Given the description of an element on the screen output the (x, y) to click on. 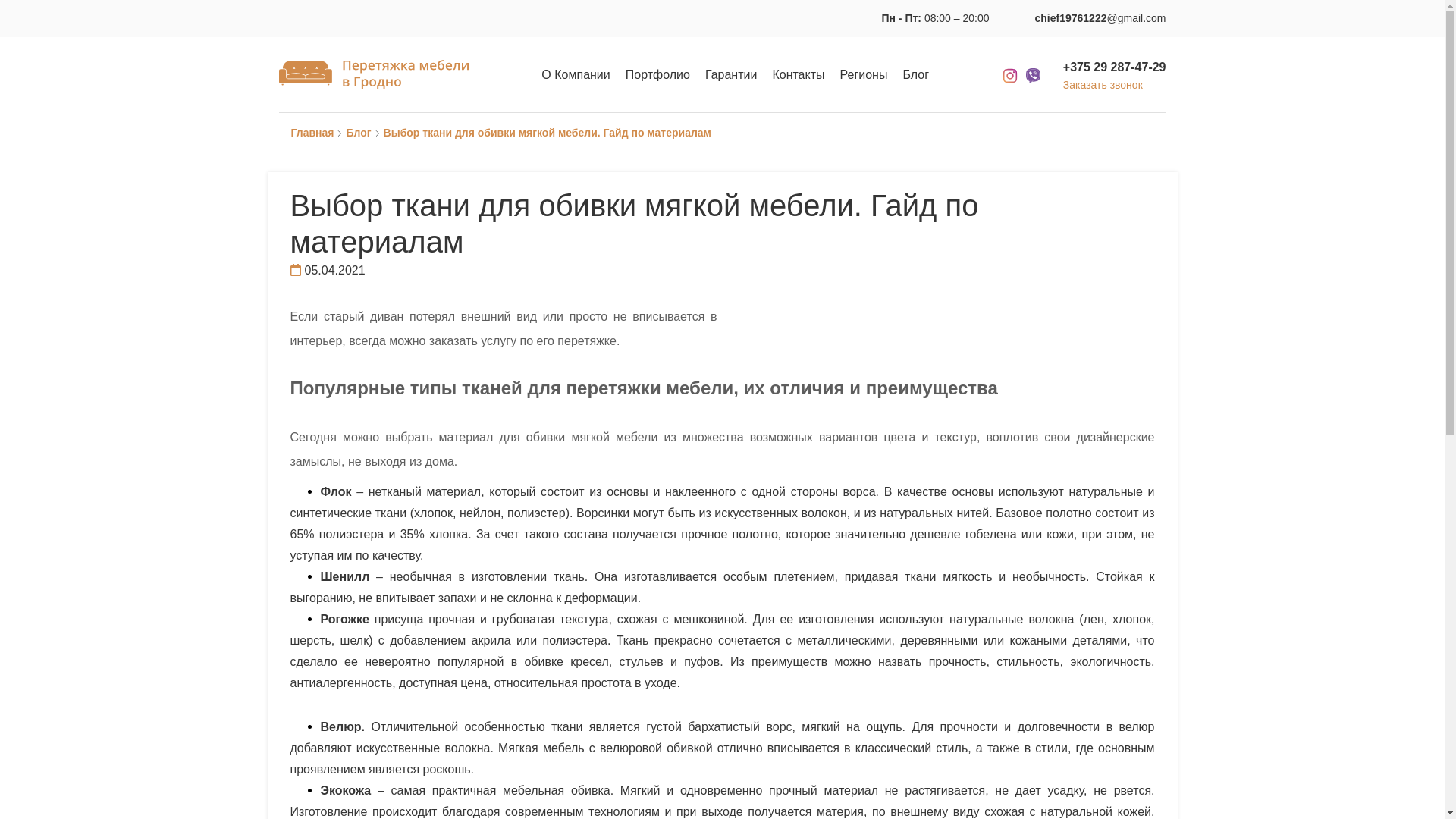
+375 29 287-47-29 Element type: text (1114, 66)
chief19761222@gmail.com Element type: text (1100, 18)
